Given the description of an element on the screen output the (x, y) to click on. 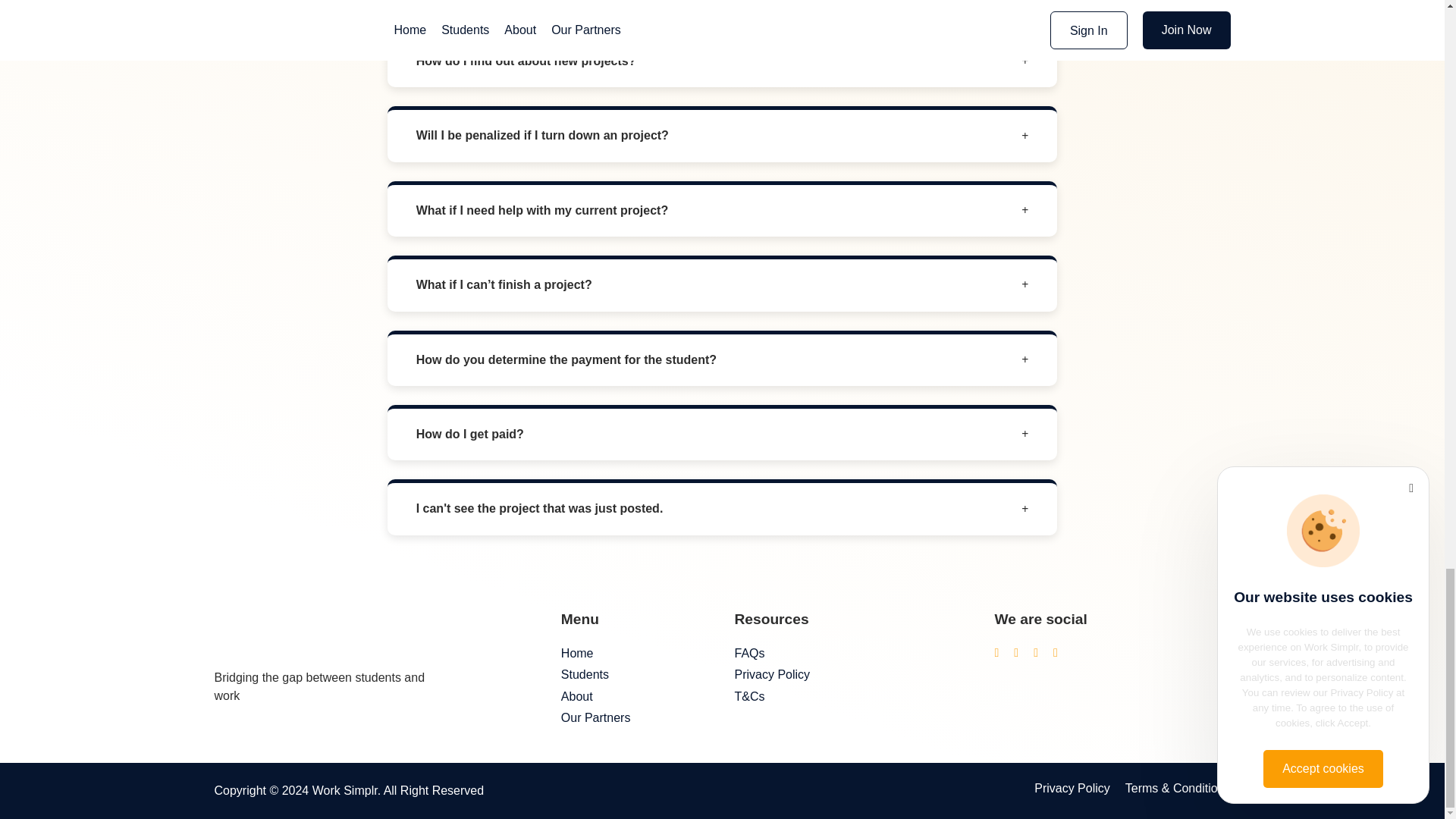
Students (635, 674)
About (635, 696)
Privacy Policy (851, 674)
Home (635, 653)
FAQs (851, 653)
Privacy Policy (1071, 788)
Our Partners (635, 717)
